Given the description of an element on the screen output the (x, y) to click on. 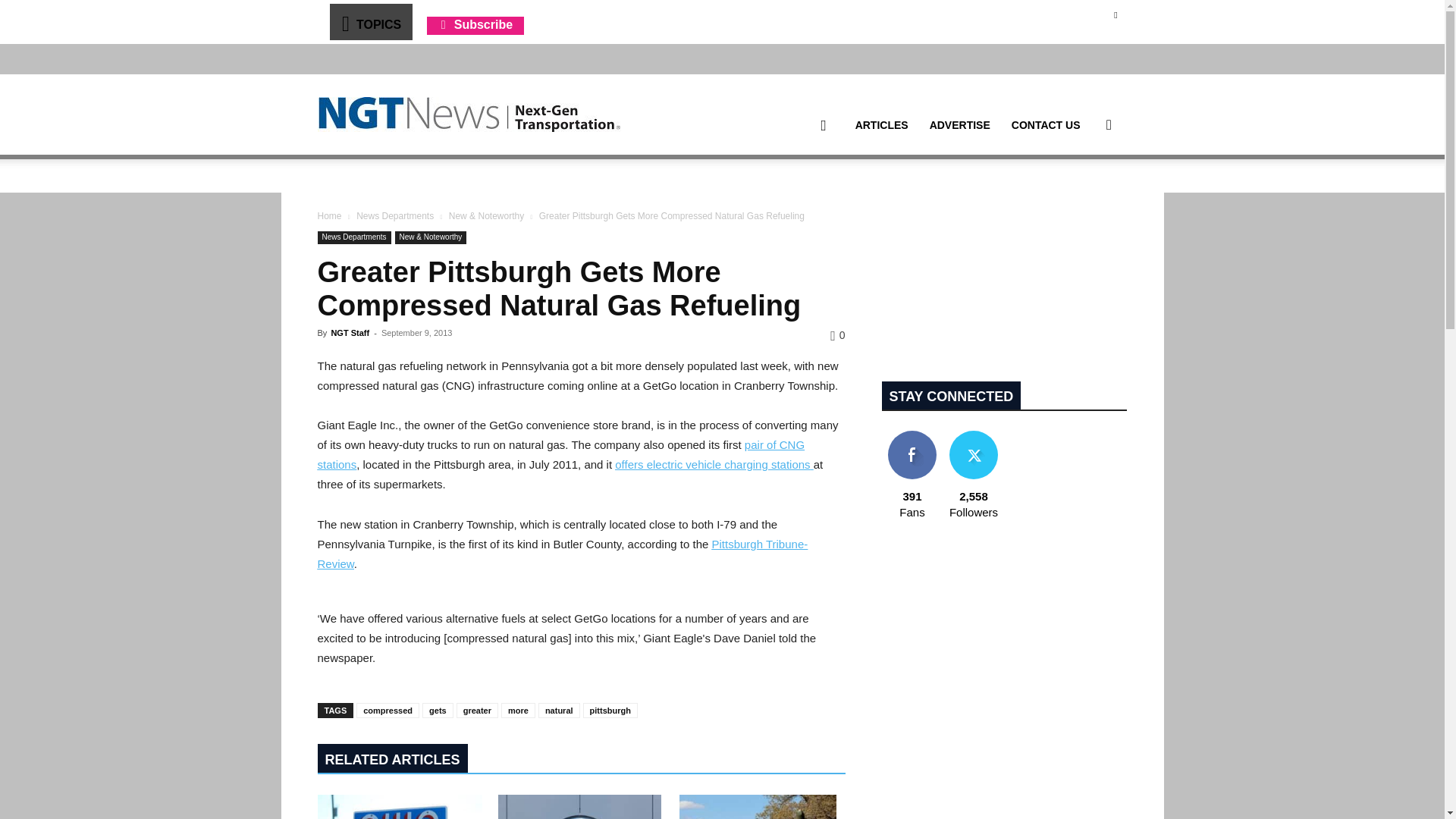
Alternative Fuel News, CNG News (468, 114)
ARTICLES (881, 124)
Subscribe (475, 24)
TOPICS (370, 22)
Twitter (1114, 14)
NGT News (468, 114)
Search (1085, 197)
